Given the description of an element on the screen output the (x, y) to click on. 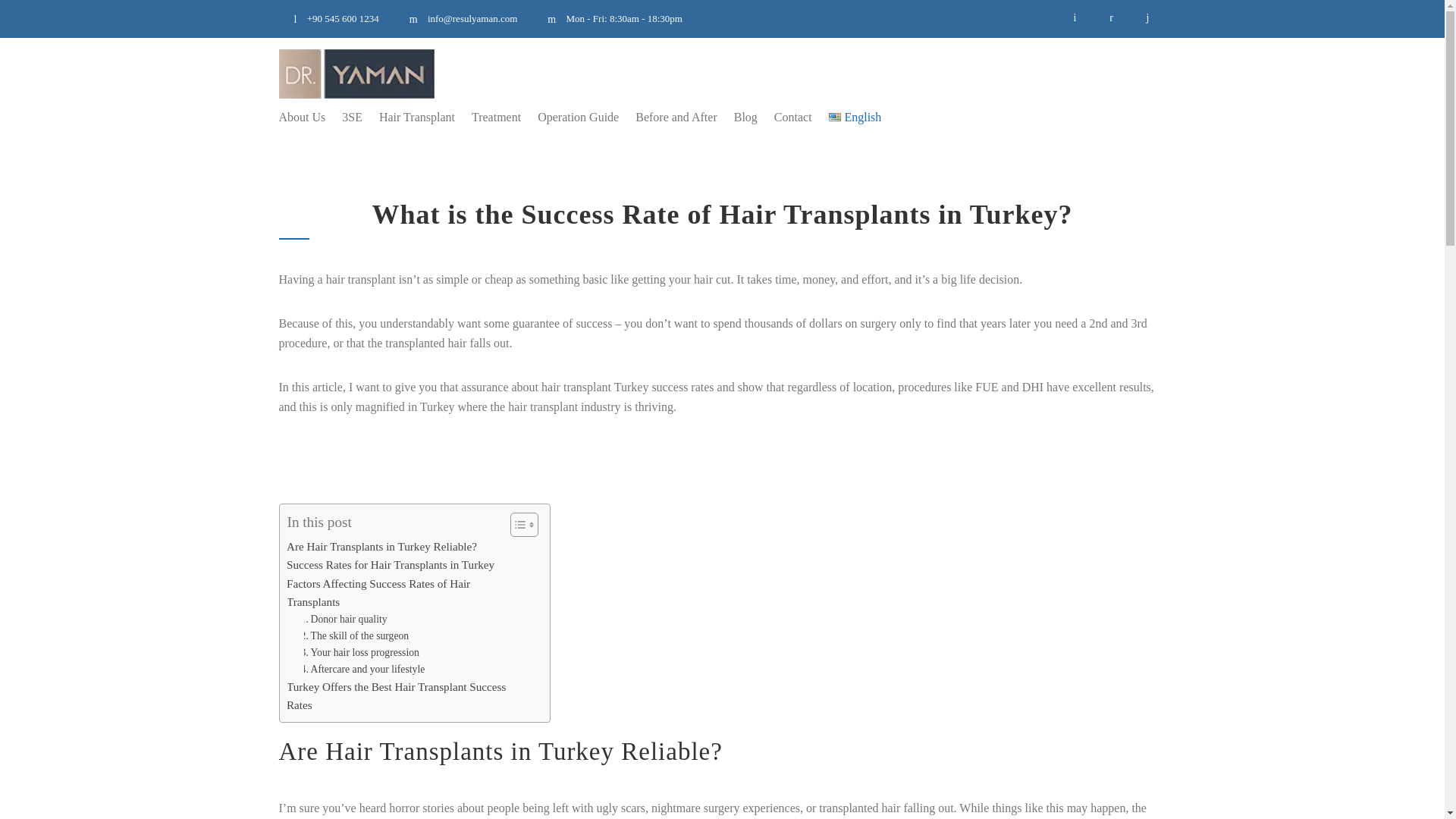
Factors Affecting Success Rates of Hair Transplants (399, 592)
Before and After (667, 117)
Operation Guide (569, 117)
Turkey Offers the Best Hair Transplant Success Rates (399, 696)
About Us (302, 117)
Hair Transplant (408, 117)
Donor hair quality (339, 619)
Aftercare and your lifestyle (358, 669)
The skill of the surgeon (350, 636)
Are Hair Transplants in Turkey Reliable? (376, 546)
